Given the description of an element on the screen output the (x, y) to click on. 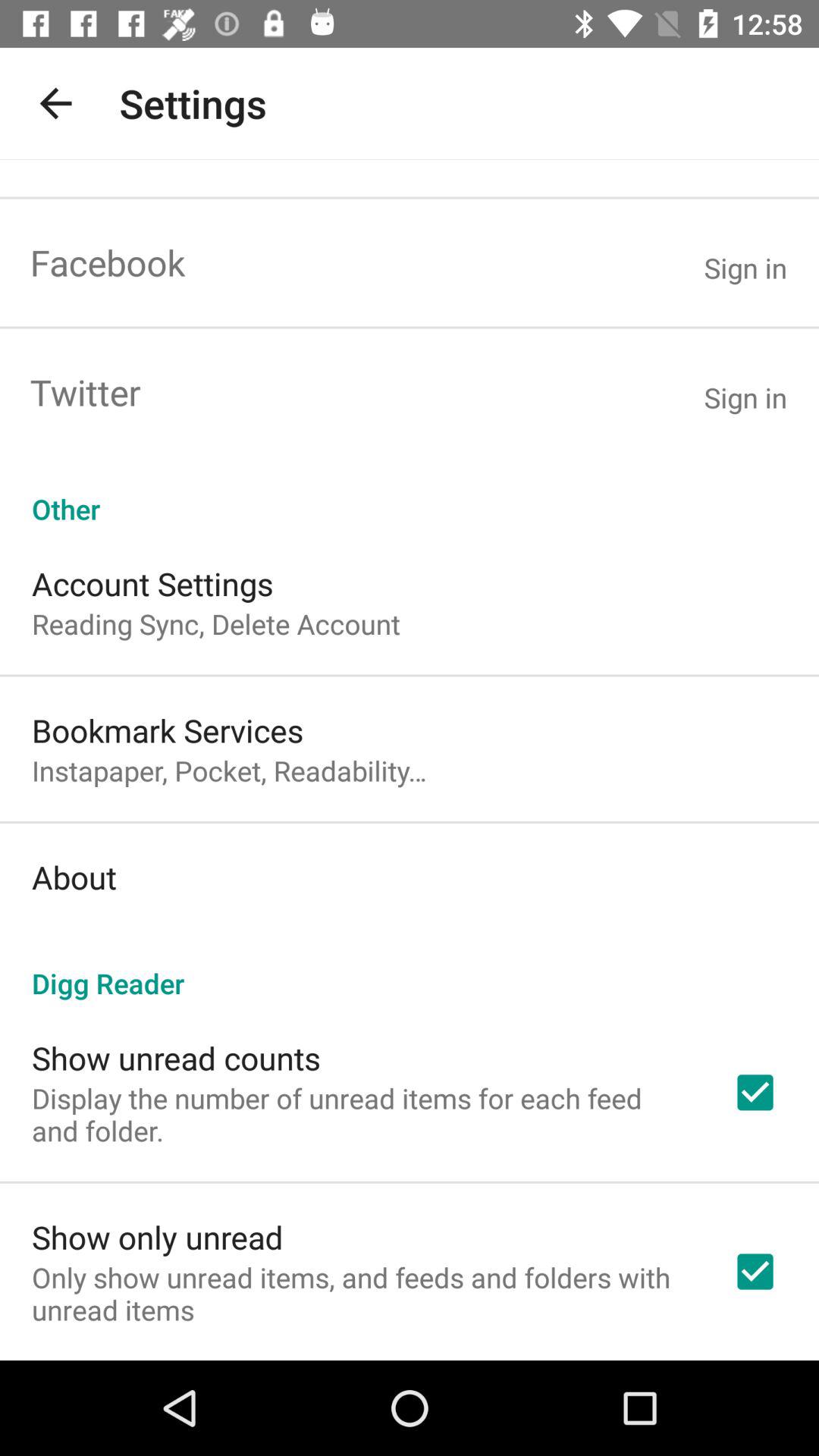
choose app below other icon (152, 583)
